Given the description of an element on the screen output the (x, y) to click on. 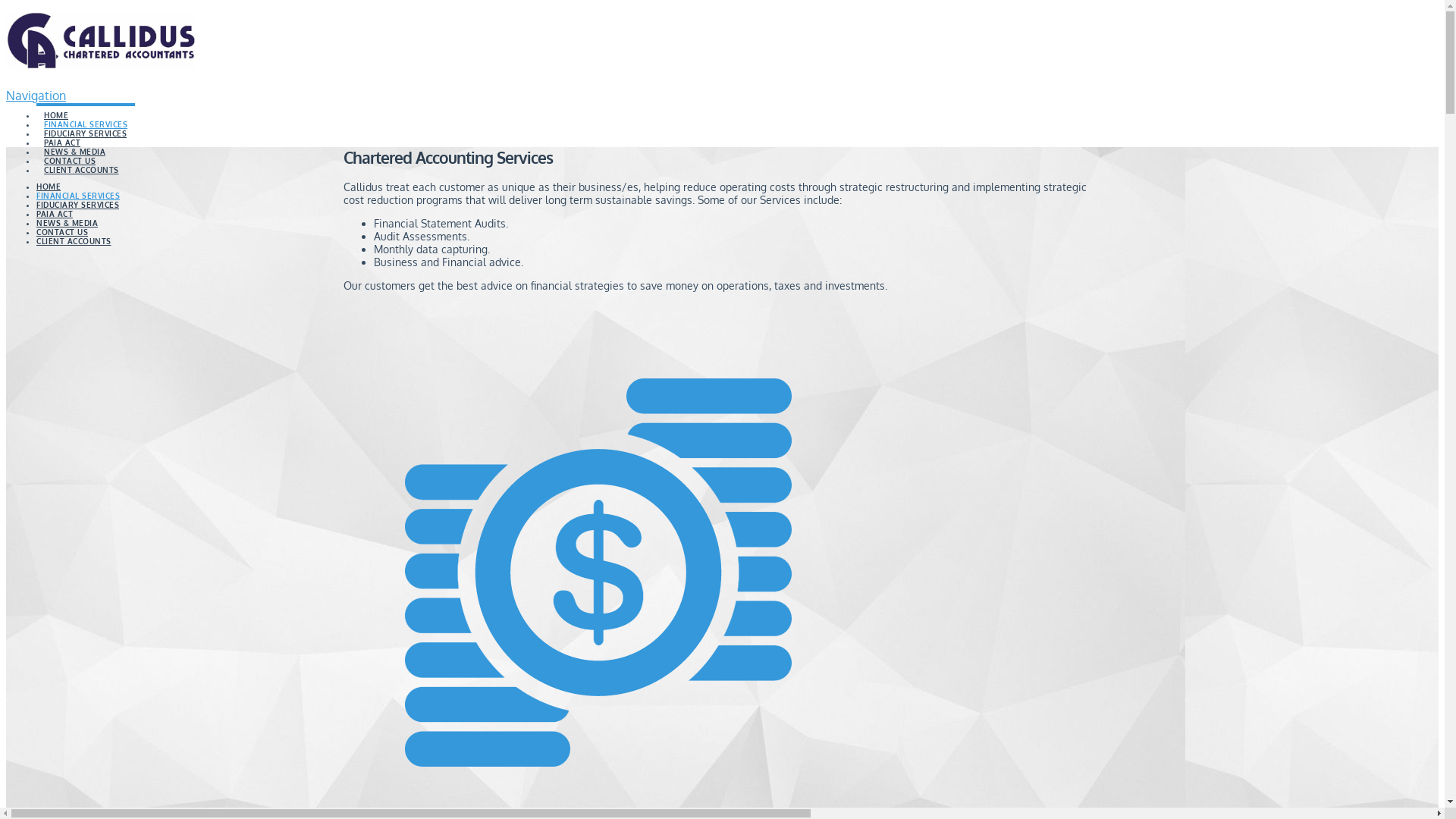
NEWS & MEDIA Element type: text (74, 143)
HOME Element type: text (48, 186)
CONTACT US Element type: text (69, 152)
FINANCIAL SERVICES Element type: text (85, 115)
PAIA ACT Element type: text (61, 134)
FINANCIAL SERVICES Element type: text (77, 195)
PAIA ACT Element type: text (54, 213)
CONTACT US Element type: text (61, 231)
FIDUCIARY SERVICES Element type: text (85, 125)
FIDUCIARY SERVICES Element type: text (77, 204)
HOME Element type: text (55, 106)
CLIENT ACCOUNTS Element type: text (80, 161)
Navigation Element type: text (35, 95)
CLIENT ACCOUNTS Element type: text (73, 240)
Callidus Wealth Management Element type: hover (100, 49)
NEWS & MEDIA Element type: text (66, 222)
